Given the description of an element on the screen output the (x, y) to click on. 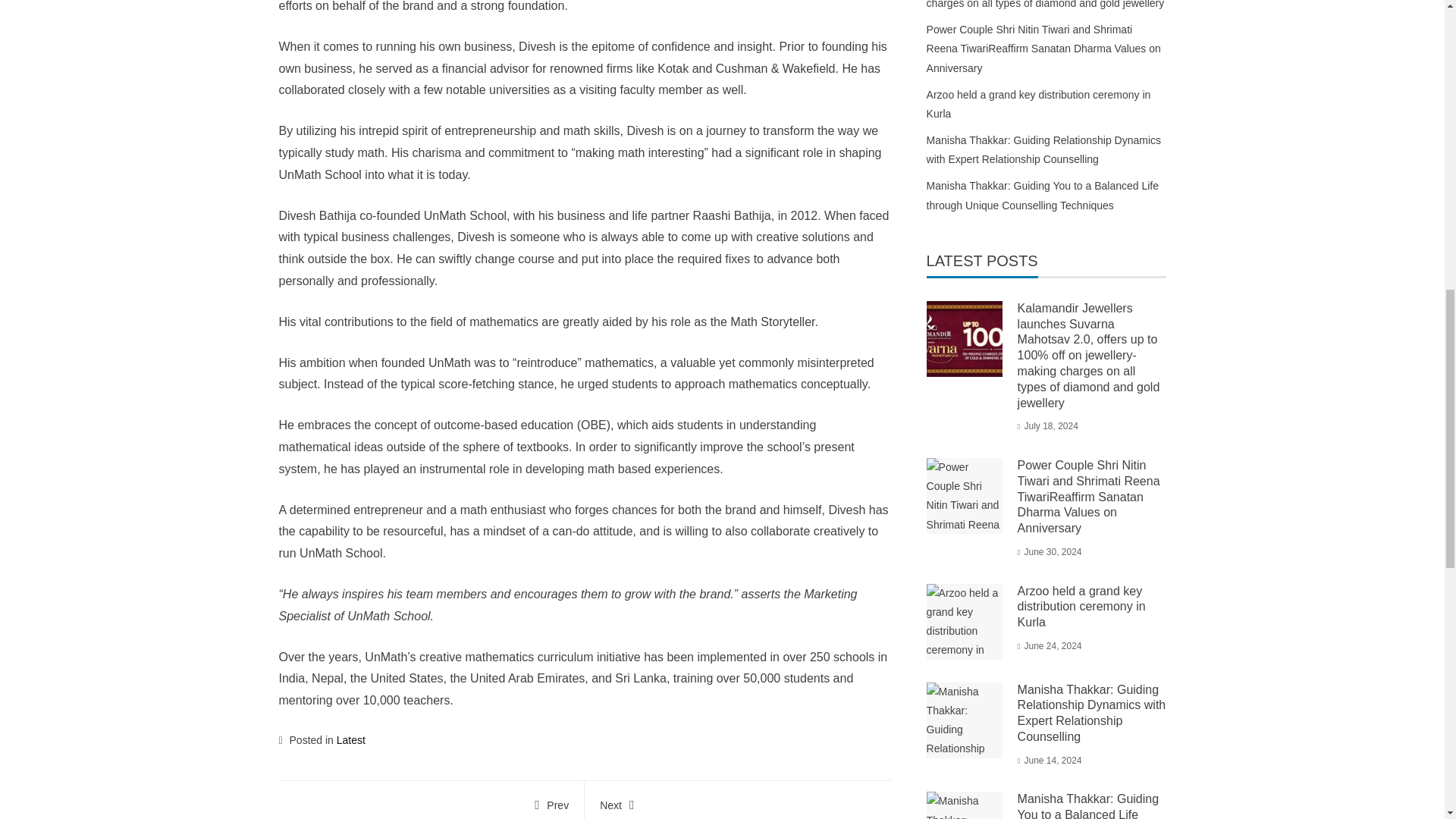
Arzoo held a grand key distribution ceremony in Kurla (1038, 103)
Latest (350, 739)
Arzoo held a grand key distribution ceremony in Kurla (1081, 606)
